Given the description of an element on the screen output the (x, y) to click on. 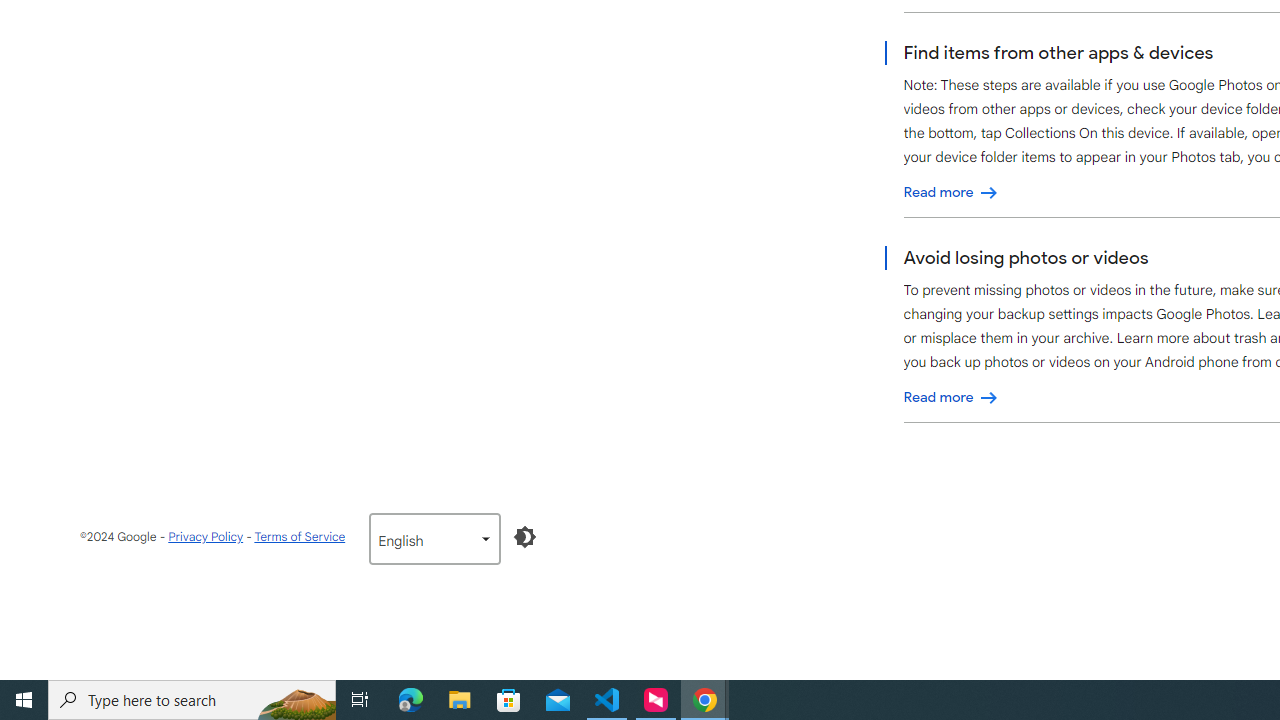
Enable Dark Mode (525, 536)
Find items from other apps & devices (951, 192)
Avoid losing photos or videos (951, 397)
